Given the description of an element on the screen output the (x, y) to click on. 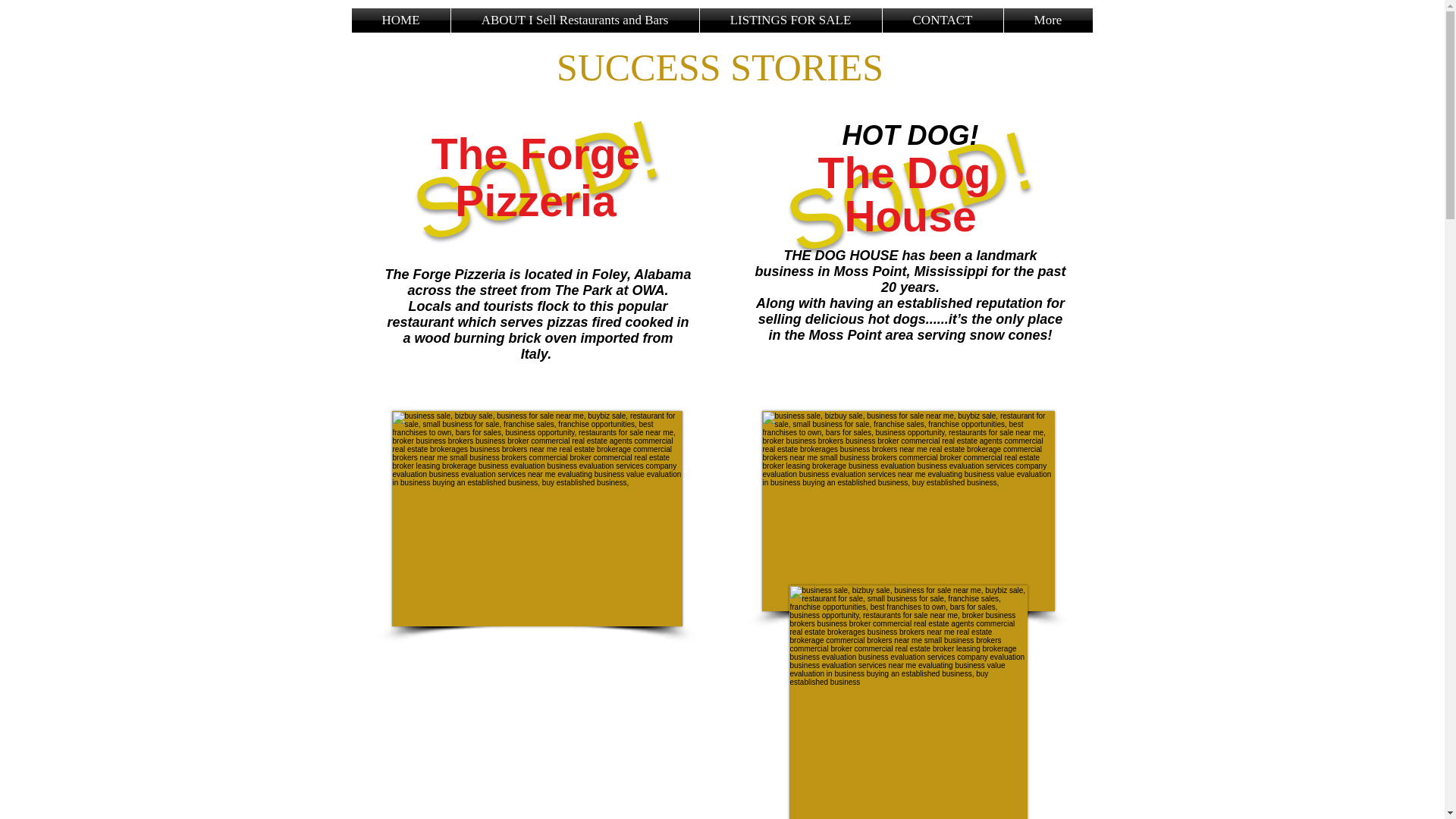
LISTINGS FOR SALE (789, 20)
HOME (400, 20)
CONTACT (942, 20)
ABOUT I Sell Restaurants and Bars (573, 20)
